Given the description of an element on the screen output the (x, y) to click on. 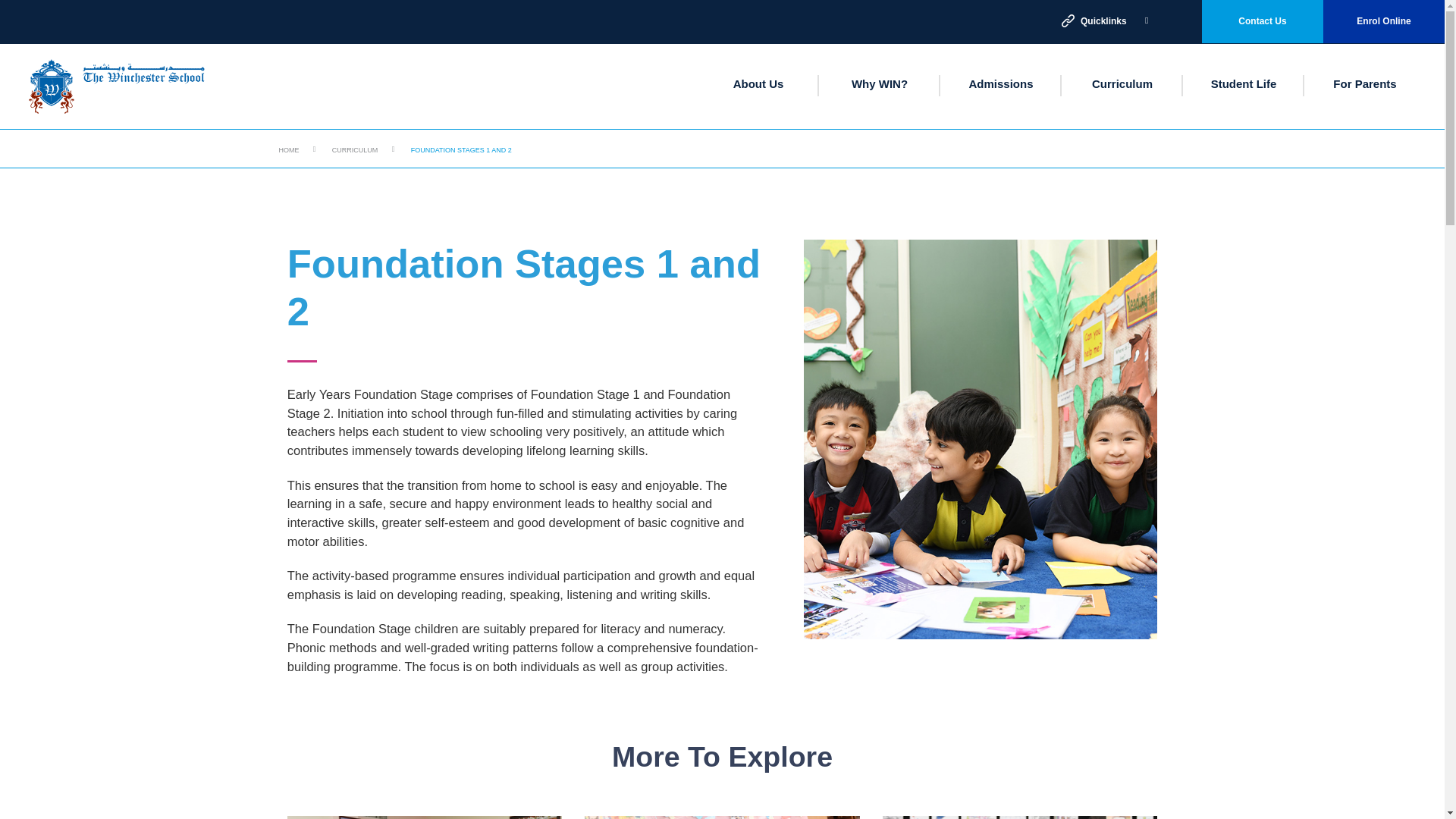
Contact Us (1262, 21)
Admissions (1000, 83)
Curriculum (1122, 83)
Why WIN? (879, 83)
header-logo (117, 85)
About Us (758, 83)
Why WIN (879, 83)
About Us (758, 83)
